Given the description of an element on the screen output the (x, y) to click on. 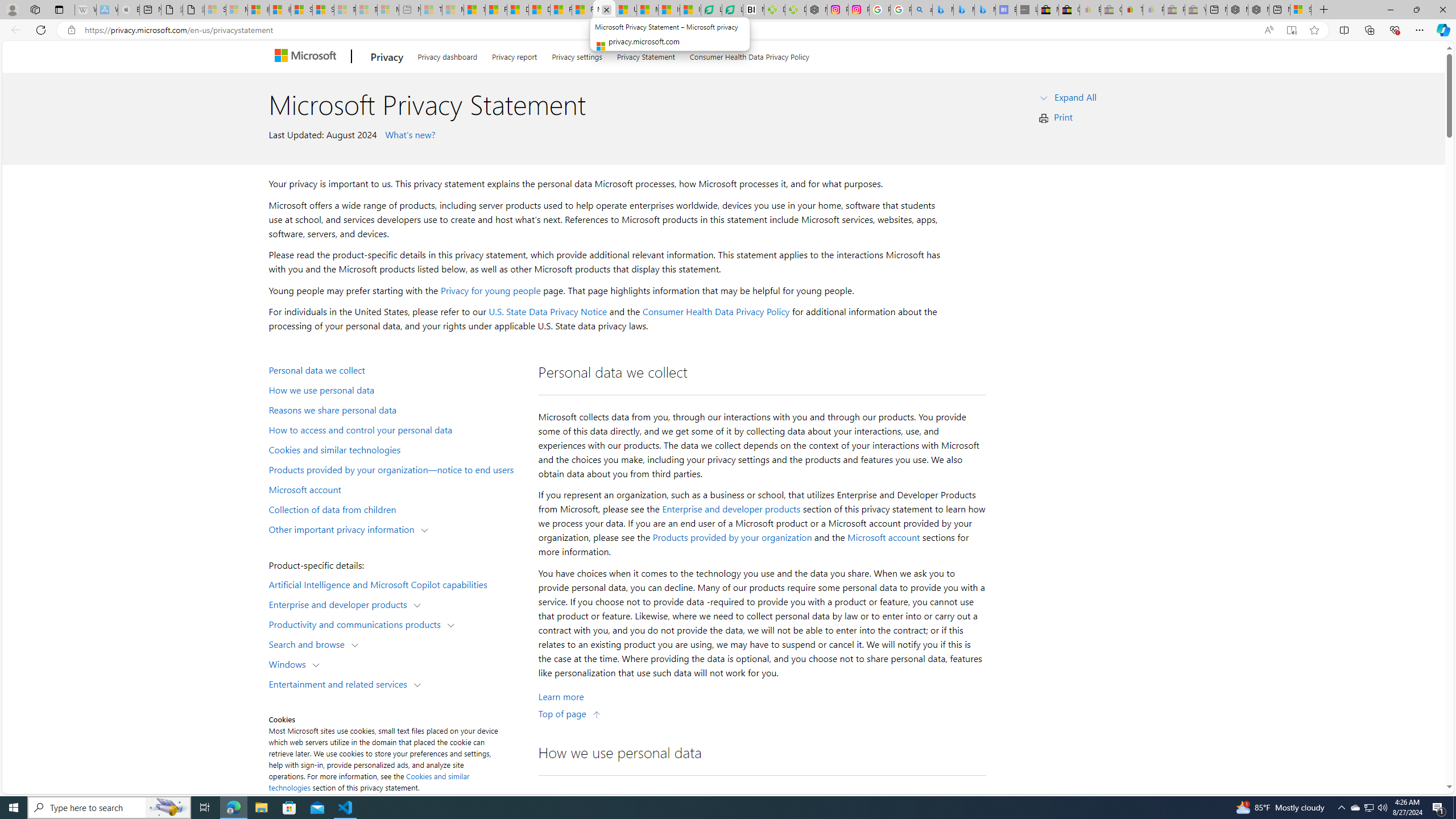
Privacy dashboard (447, 54)
Privacy dashboard (447, 54)
Enterprise and developer products (731, 508)
Microsoft account (883, 537)
Enterprise and developer products (340, 603)
Personal data we collect (395, 368)
Privacy Statement (645, 54)
LendingTree - Compare Lenders (732, 9)
